Given the description of an element on the screen output the (x, y) to click on. 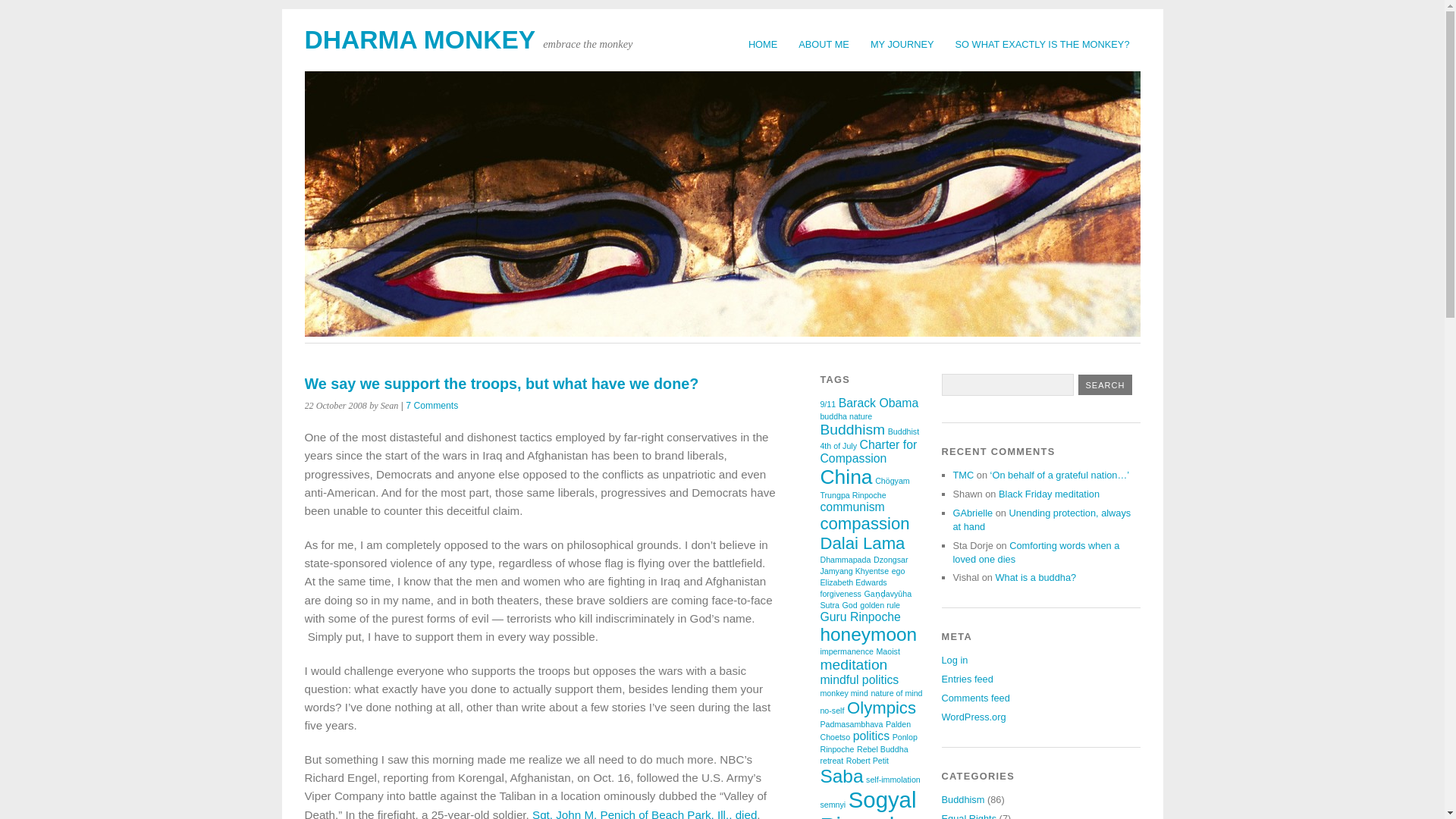
honeymoon (868, 634)
Maoist (887, 651)
Buddhism (852, 429)
China (845, 477)
7 Comments (432, 405)
ego (898, 570)
Dzongsar Jamyang Khyentse (863, 565)
Charter for Compassion (868, 451)
HOME (762, 43)
compassion (863, 523)
MY JOURNEY (902, 43)
Sgt. John M. Penich of Beach Park, Ill., died (644, 813)
Elizabeth Edwards (852, 582)
buddha nature (845, 415)
Search (1105, 384)
